Given the description of an element on the screen output the (x, y) to click on. 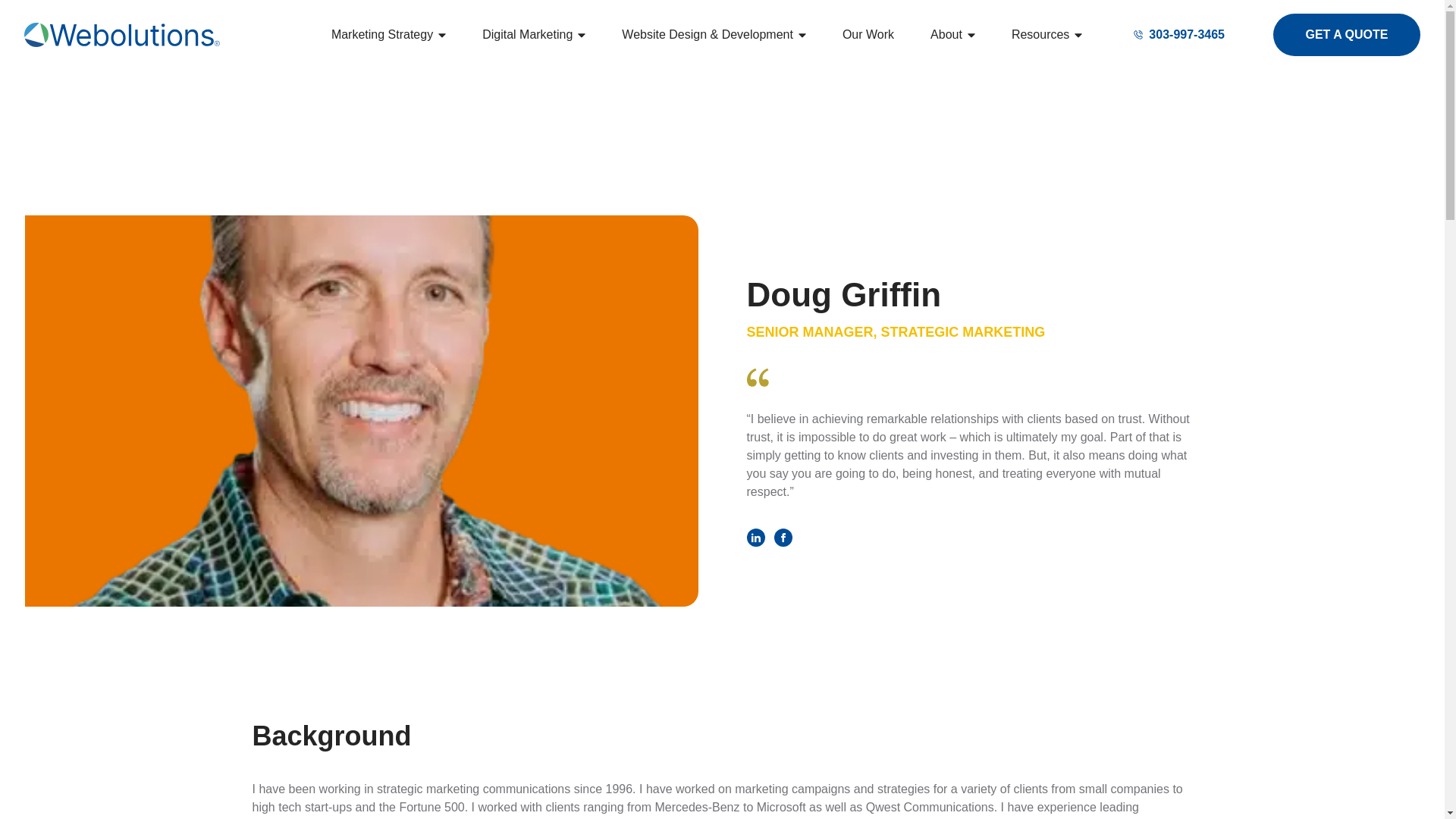
Marketing Strategy (384, 34)
Digital Marketing (530, 34)
